Given the description of an element on the screen output the (x, y) to click on. 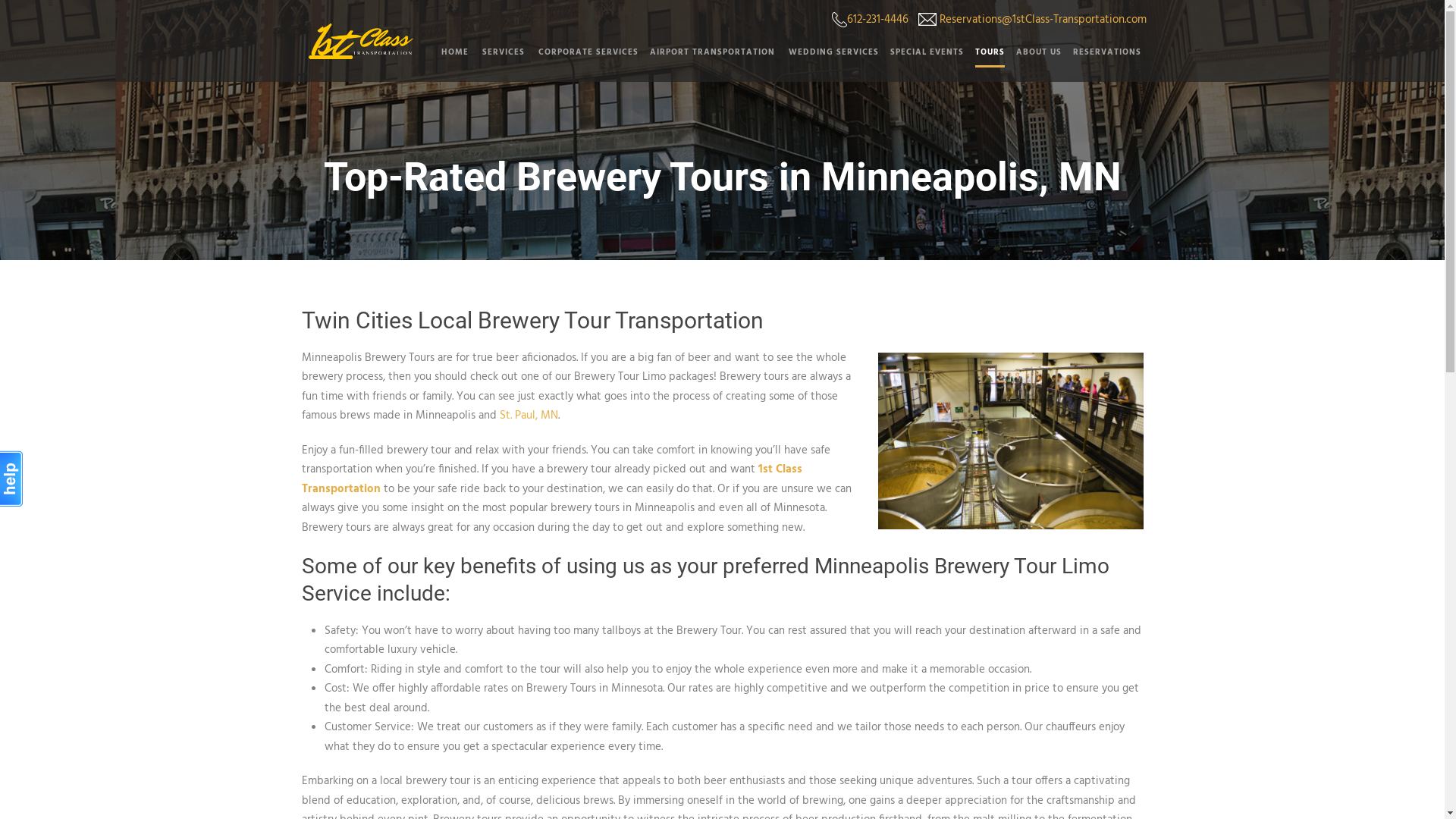
RESERVATIONS Element type: text (1102, 60)
SPECIAL EVENTS Element type: text (920, 60)
WEDDING SERVICES Element type: text (827, 60)
CORPORATE SERVICES Element type: text (581, 60)
SERVICES Element type: text (498, 60)
St. Paul, MN Element type: text (527, 415)
1st Class Transportation Element type: text (551, 479)
AIRPORT TRANSPORTATION Element type: text (707, 60)
612-231-4446 Element type: text (876, 19)
HOME Element type: text (455, 60)
ABOUT US Element type: text (1032, 60)
Reservations@1stClass-Transportation.com Element type: text (1041, 19)
TOURS Element type: text (983, 60)
